Given the description of an element on the screen output the (x, y) to click on. 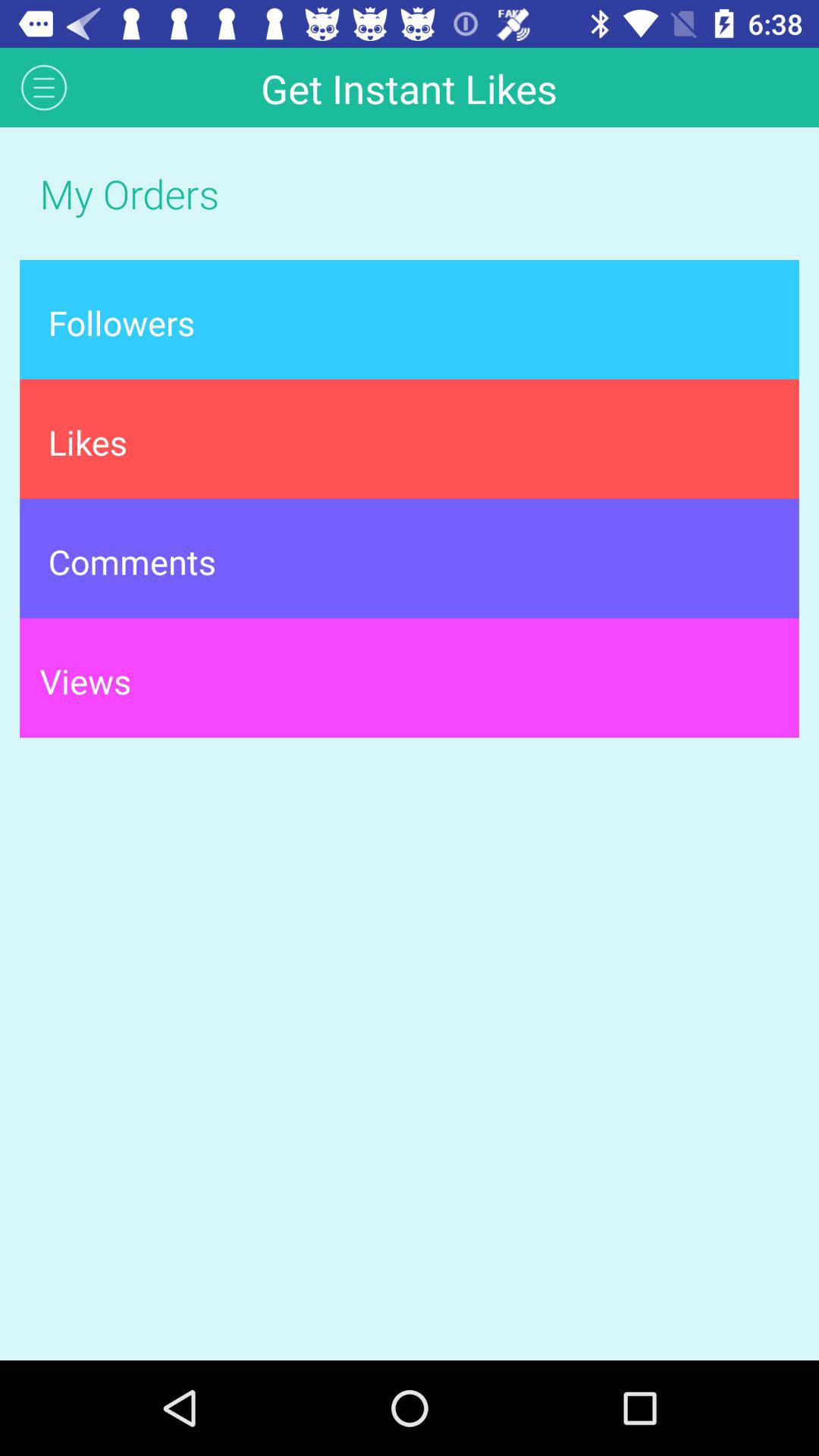
tap the views app (409, 677)
